Given the description of an element on the screen output the (x, y) to click on. 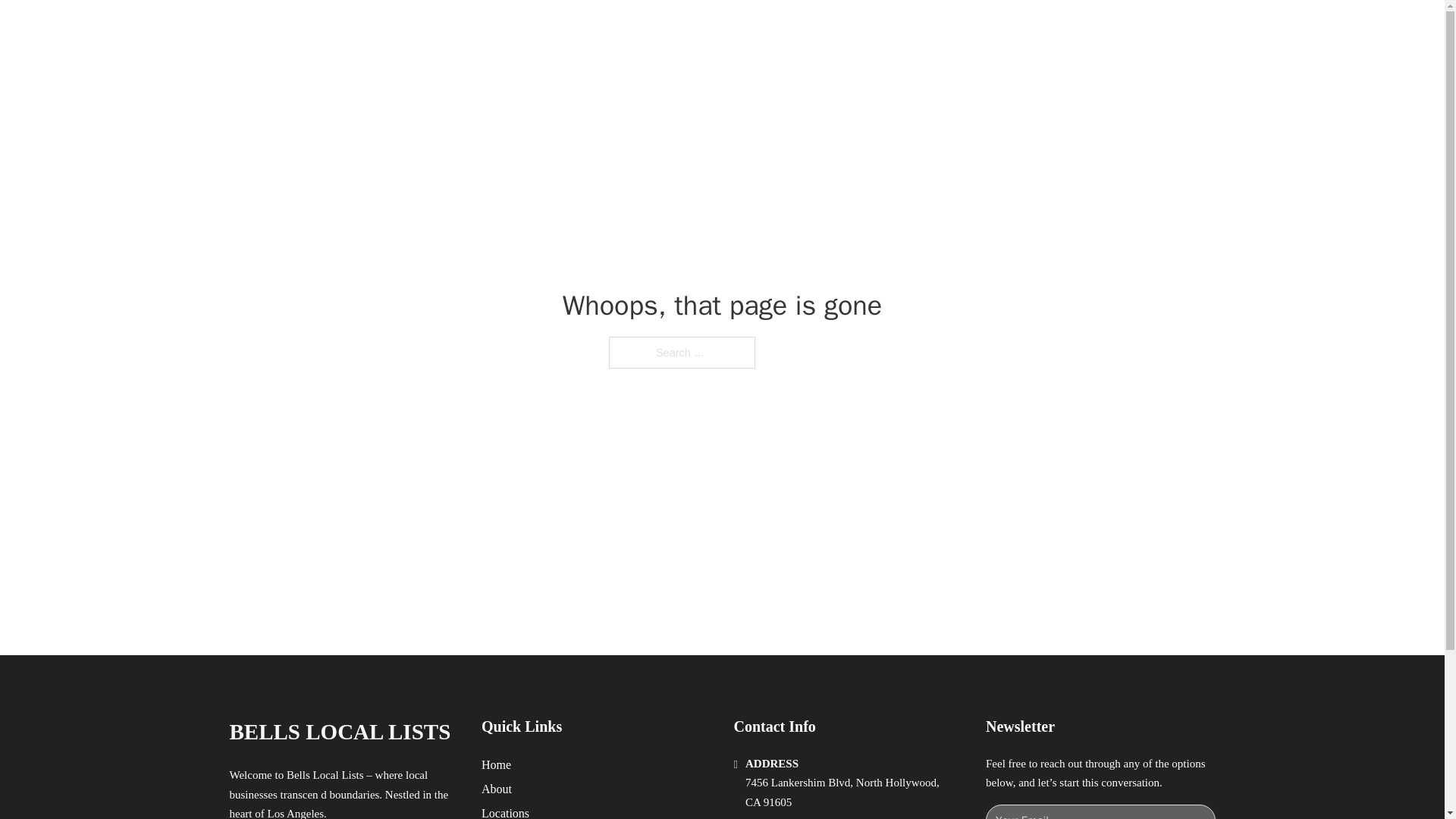
BELLS LOCAL LISTS (338, 732)
Home (496, 764)
BELLS LOCAL LISTS (409, 28)
Locations (505, 811)
LOCATIONS (990, 29)
HOME (919, 29)
About (496, 788)
